Given the description of an element on the screen output the (x, y) to click on. 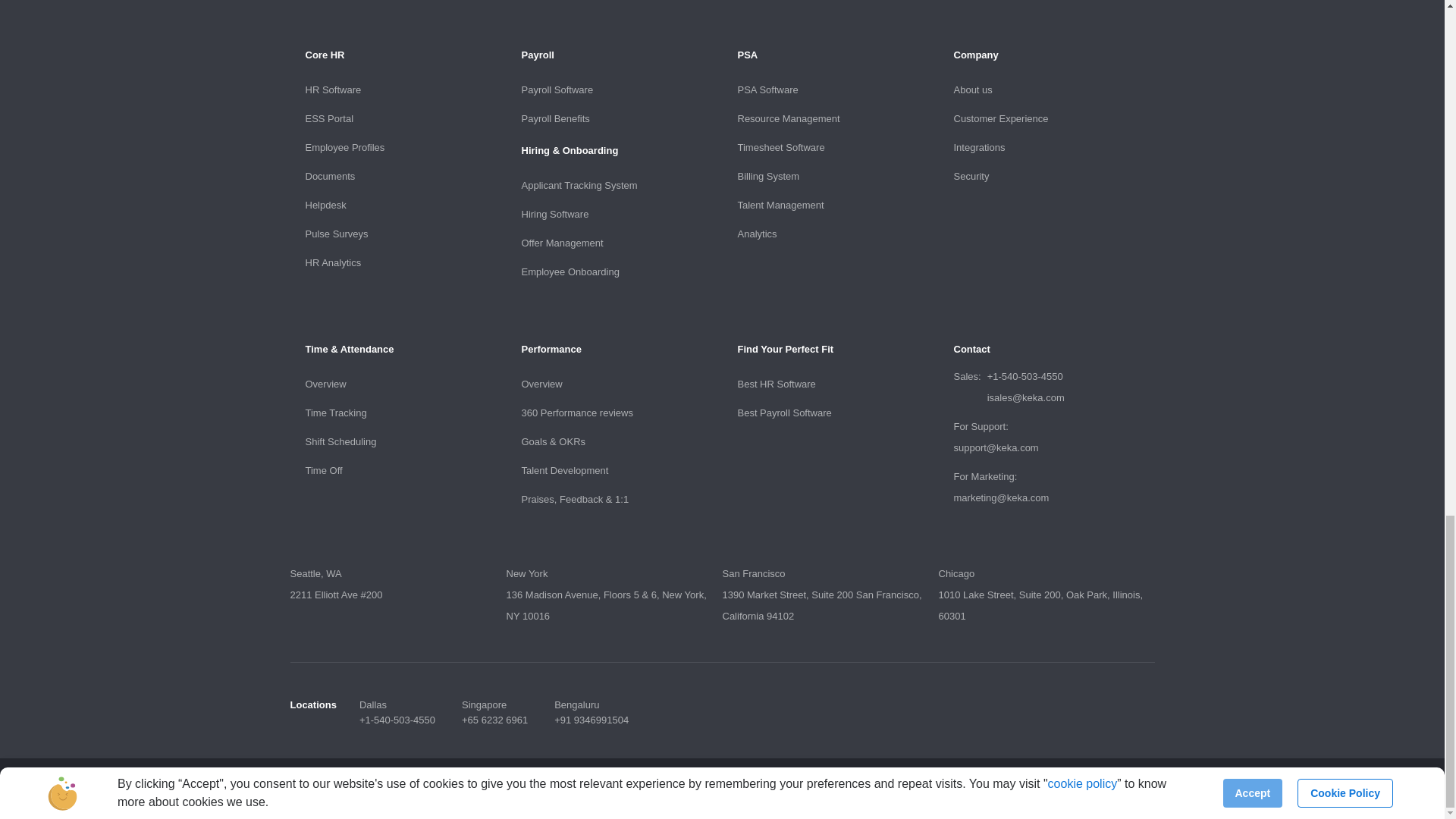
Pulse Surveys (336, 233)
Helpdesk (325, 204)
Documents (329, 175)
Payroll Software (557, 89)
HR Analytics (332, 262)
HR Software (332, 89)
ESS Portal (328, 118)
Employee Profiles (344, 147)
